Given the description of an element on the screen output the (x, y) to click on. 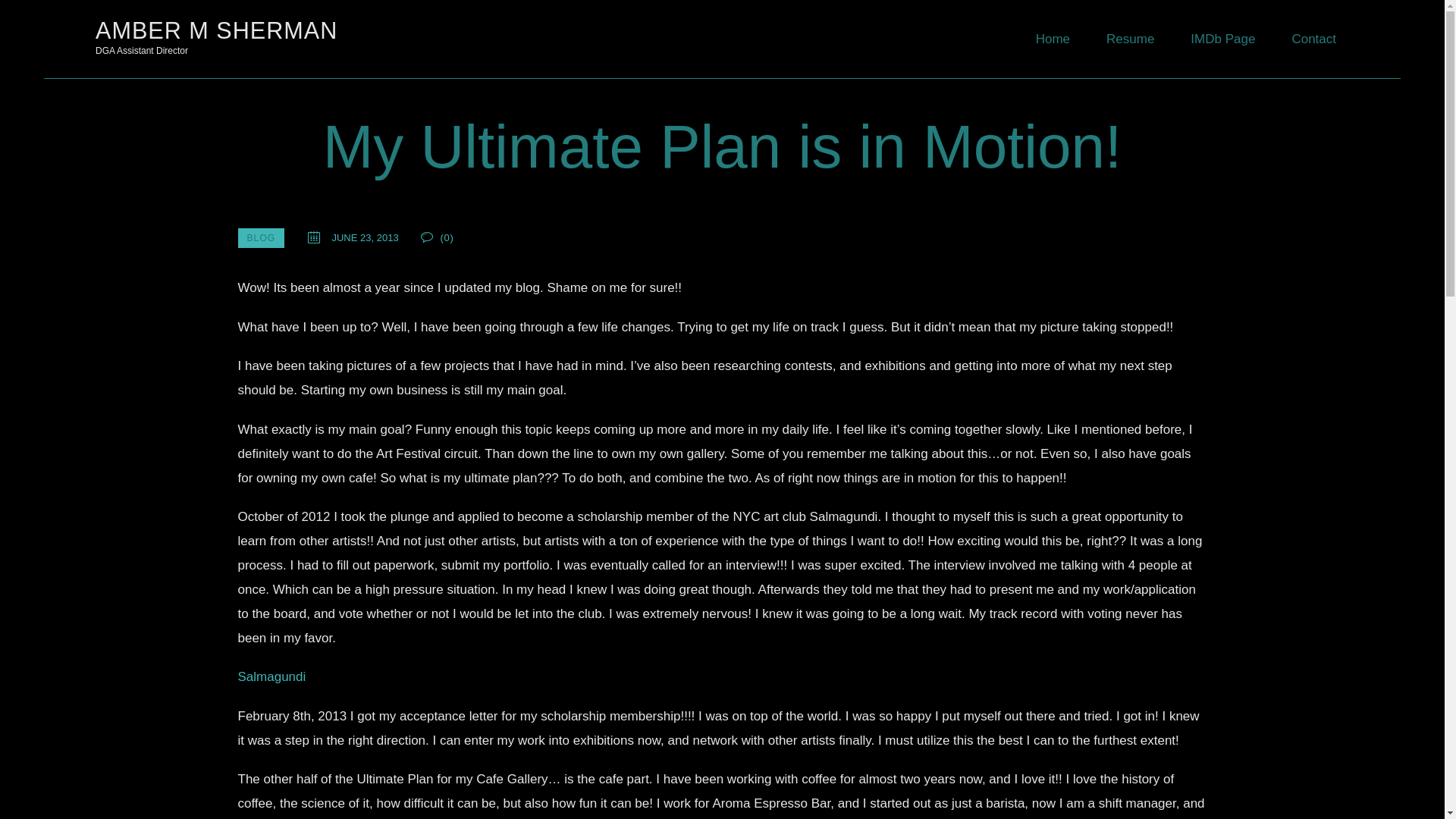
Salmagundi (271, 676)
IMDb Page (1222, 39)
Home (1053, 39)
Contact (1313, 39)
BLOG (261, 238)
Resume (1130, 39)
JUNE 23, 2013 (216, 35)
